Given the description of an element on the screen output the (x, y) to click on. 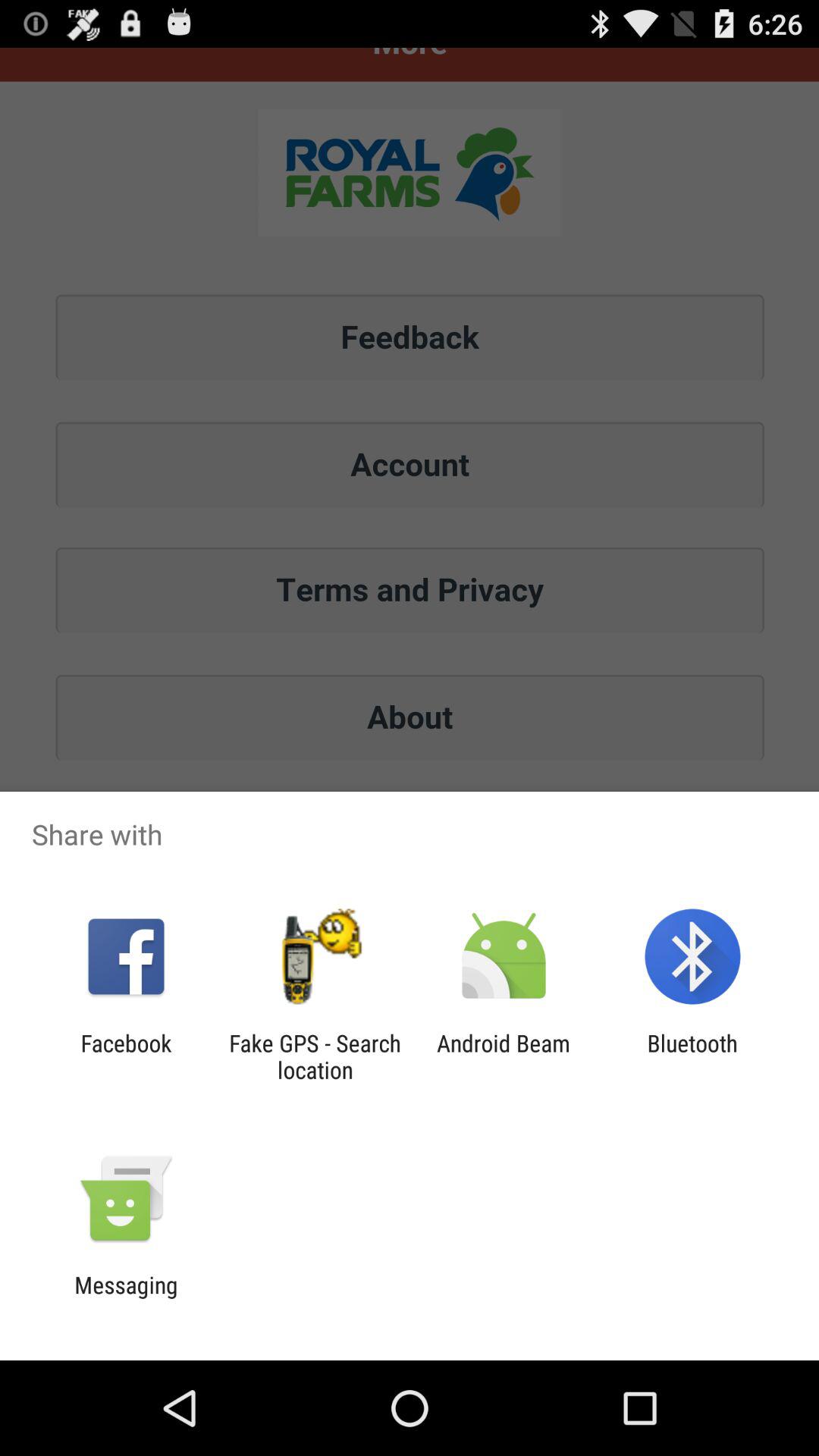
swipe until the android beam (503, 1056)
